Given the description of an element on the screen output the (x, y) to click on. 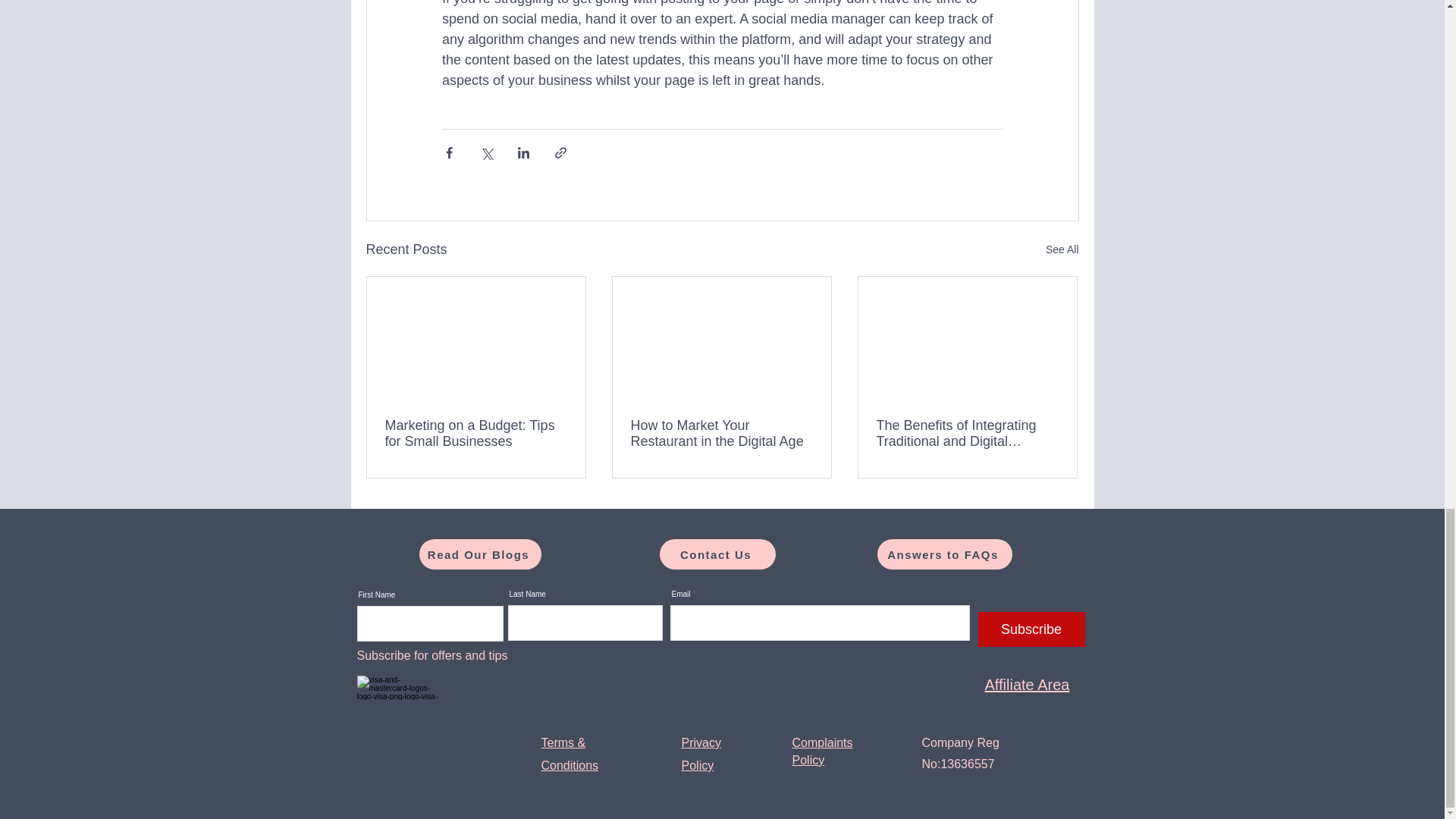
Subscribe (1031, 629)
See All (1061, 250)
How to Market Your Restaurant in the Digital Age (721, 433)
Read Our Blogs (479, 553)
Affiliate Area (1026, 684)
Complaints Policy (821, 751)
Contact Us (717, 553)
Privacy Policy (700, 754)
Marketing on a Budget: Tips for Small Businesses (476, 433)
Answers to FAQs (943, 553)
